Given the description of an element on the screen output the (x, y) to click on. 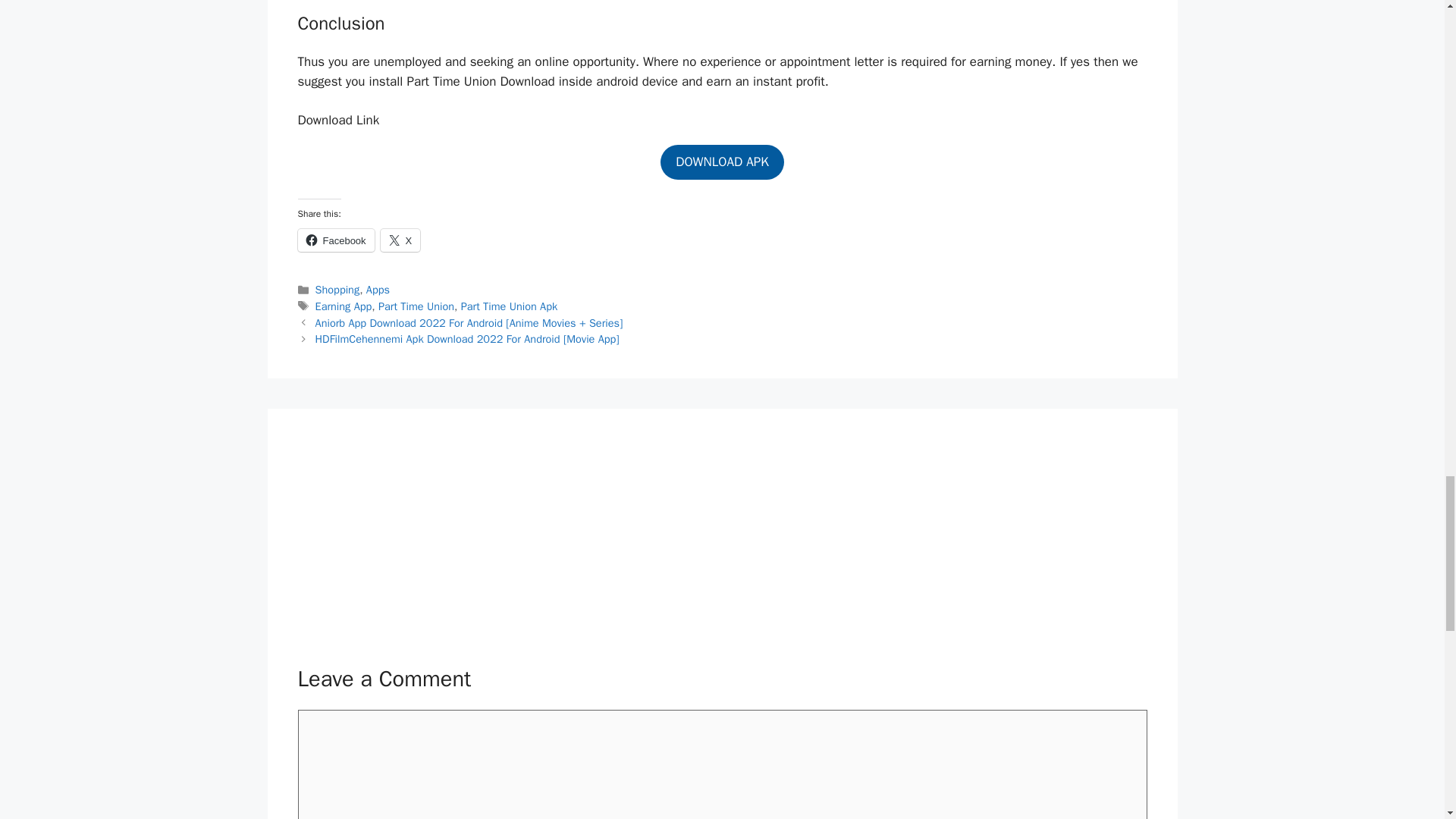
Shopping (337, 289)
DOWNLOAD APK (722, 161)
Earning App (343, 305)
Apps (378, 289)
Part Time Union Apk (509, 305)
Part Time Union (416, 305)
Facebook (335, 240)
X (400, 240)
